Given the description of an element on the screen output the (x, y) to click on. 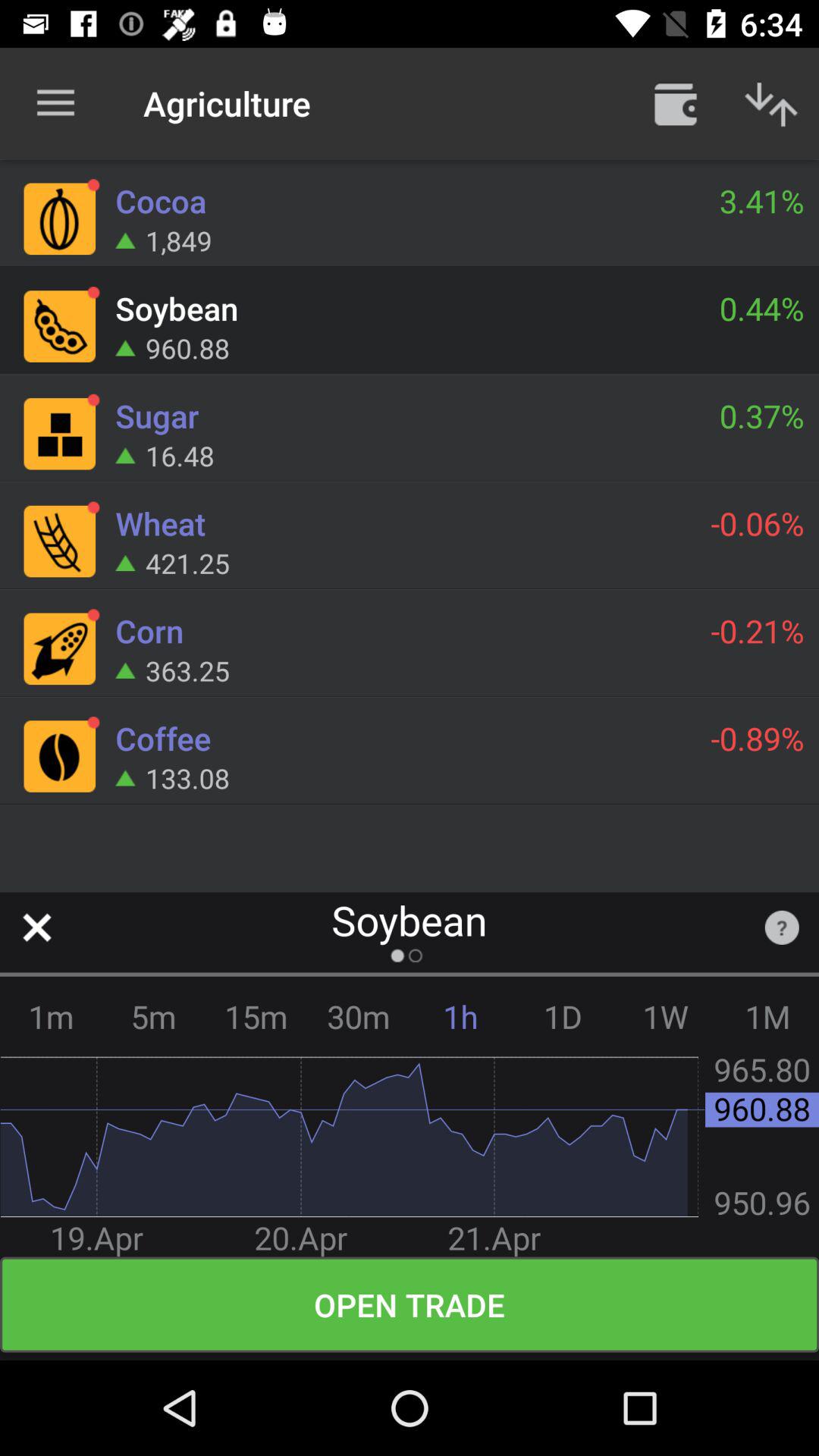
open item next to the 1d icon (460, 1016)
